Given the description of an element on the screen output the (x, y) to click on. 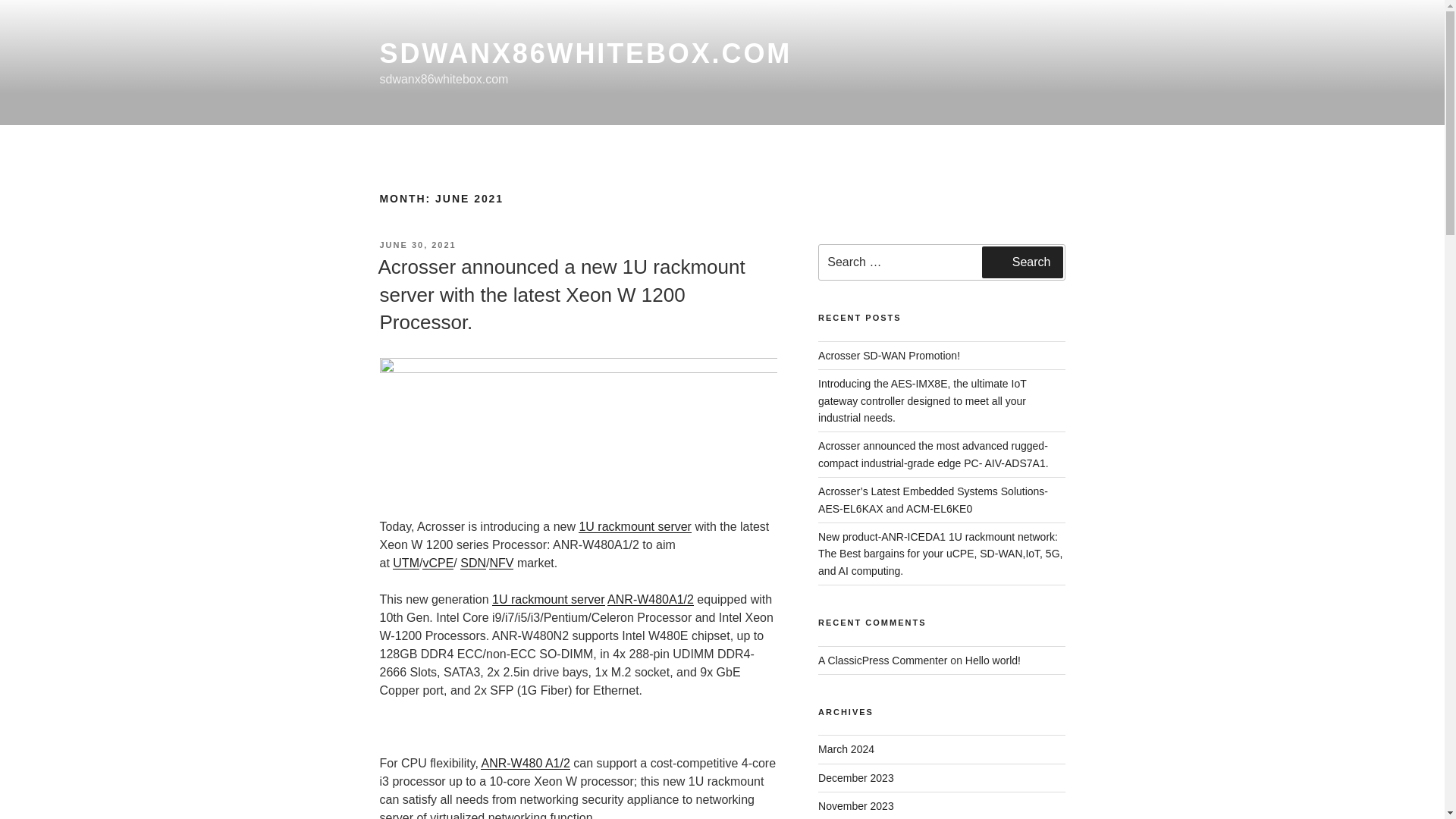
1U rackmount server (634, 526)
1U rackmount server (548, 599)
A ClassicPress Commenter (882, 660)
vCPE (437, 562)
JUNE 30, 2021 (416, 244)
UTM (406, 562)
Hello world! (992, 660)
March 2024 (846, 748)
Search (1021, 262)
SDWANX86WHITEBOX.COM (585, 52)
NFV (501, 562)
